Given the description of an element on the screen output the (x, y) to click on. 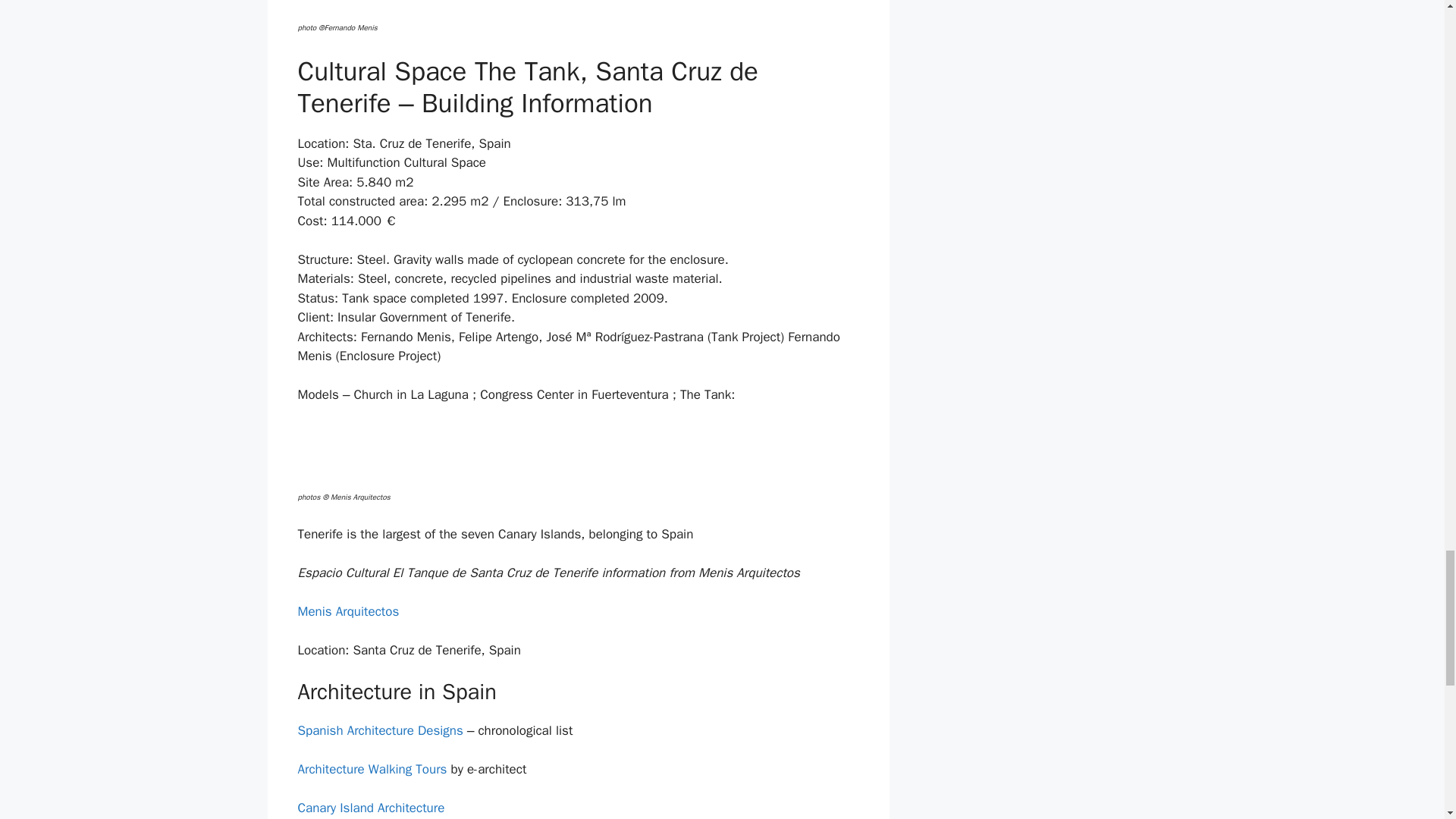
Menis Arquitectos (347, 611)
